Given the description of an element on the screen output the (x, y) to click on. 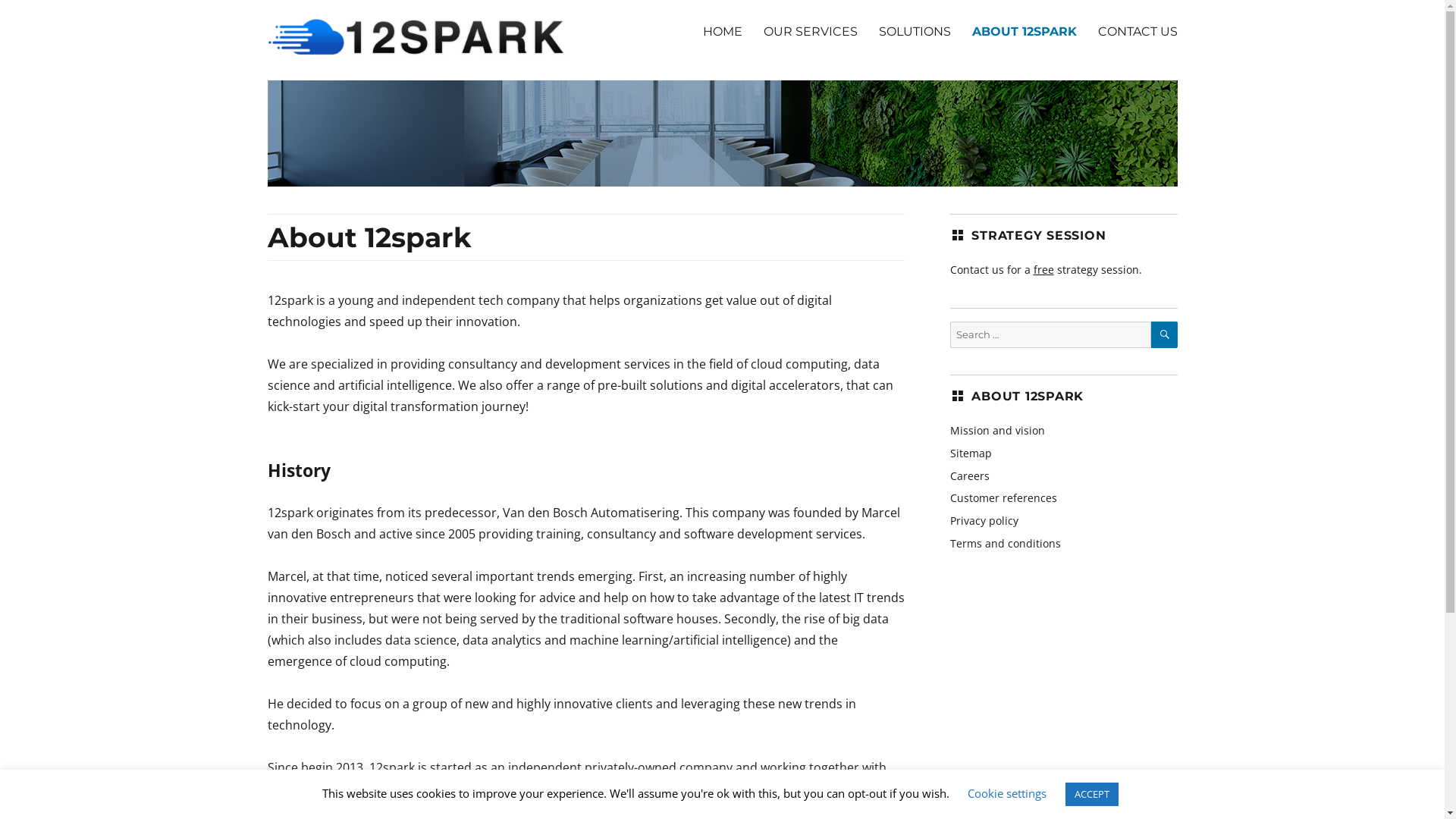
Terms and conditions Element type: text (1004, 543)
OUR SERVICES Element type: text (809, 31)
SEARCH Element type: text (1164, 334)
SOLUTIONS Element type: text (913, 31)
ABOUT 12SPARK Element type: text (1024, 31)
Mission and vision Element type: text (996, 430)
header contact.png Element type: hover (721, 133)
CONTACT US Element type: text (1137, 31)
Customer references Element type: text (1002, 497)
Cookie settings Element type: text (1006, 792)
Privacy policy Element type: text (983, 520)
Sitemap Element type: text (970, 452)
ACCEPT Element type: text (1091, 794)
HOME Element type: text (721, 31)
Contact us for a free strategy session. Element type: text (1045, 269)
Search for: Element type: hover (1049, 334)
Careers Element type: text (968, 475)
